Given the description of an element on the screen output the (x, y) to click on. 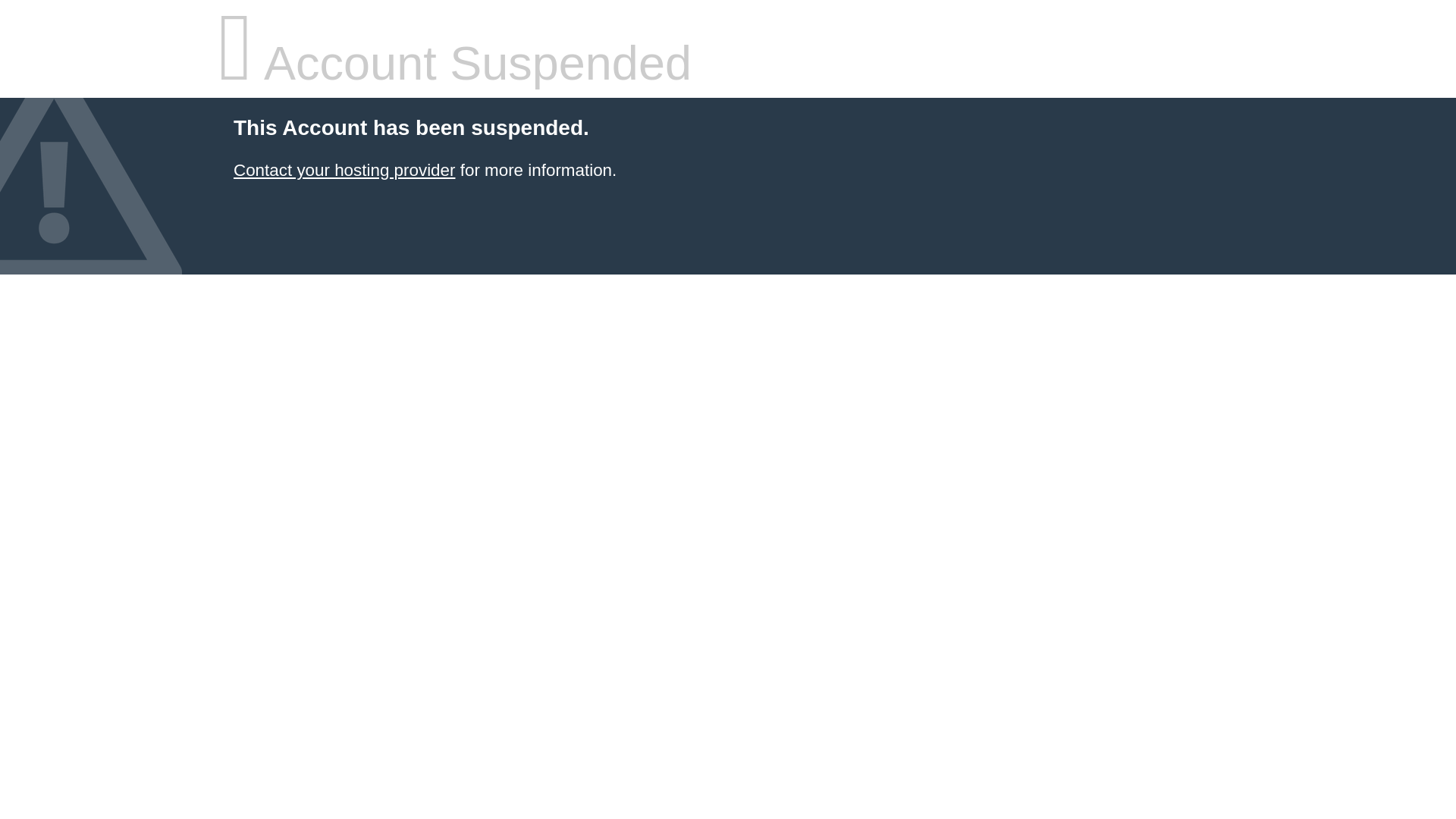
Bibihost (343, 169)
Contact your hosting provider (343, 169)
